Given the description of an element on the screen output the (x, y) to click on. 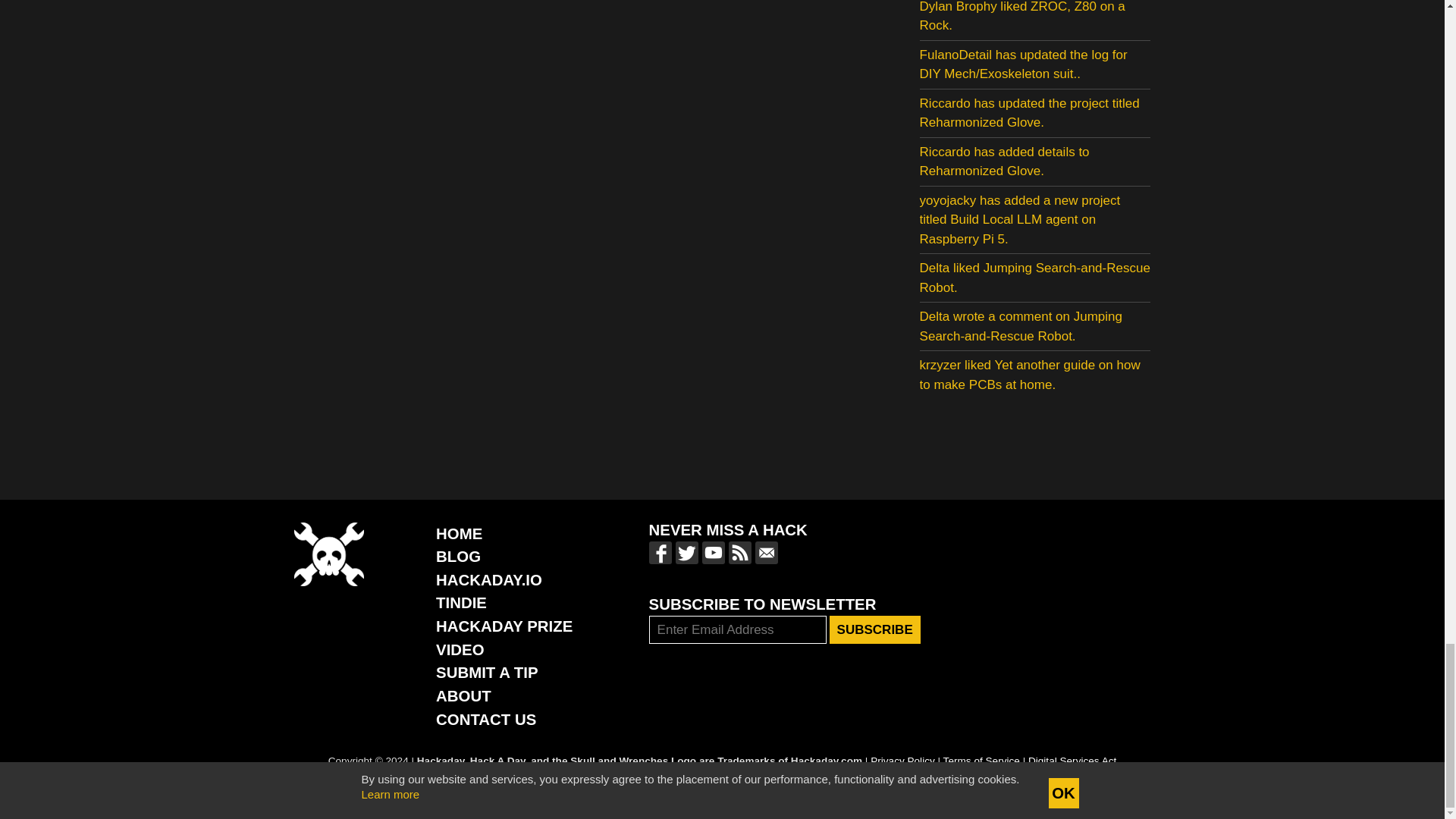
Build Something that Matters (503, 626)
Subscribe (874, 629)
